Given the description of an element on the screen output the (x, y) to click on. 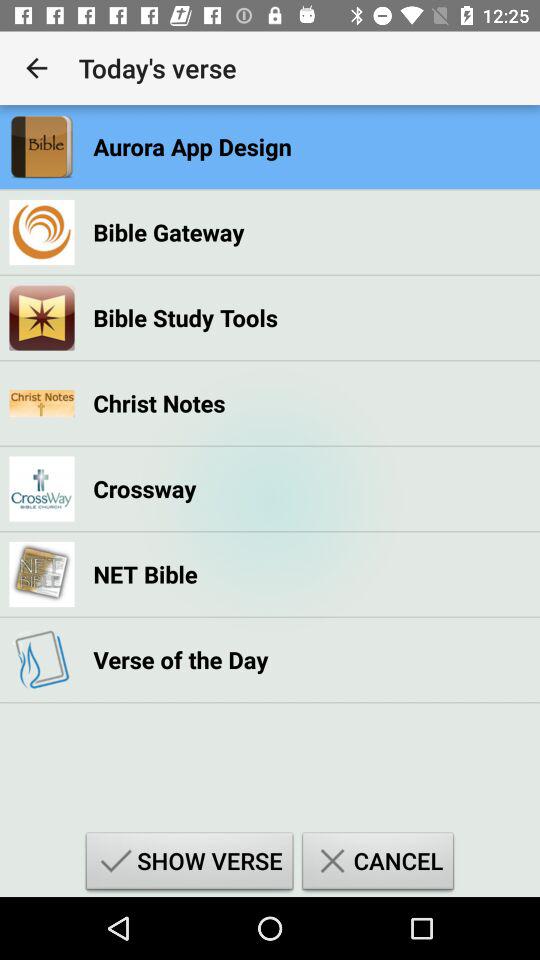
swipe to the net bible (145, 573)
